Given the description of an element on the screen output the (x, y) to click on. 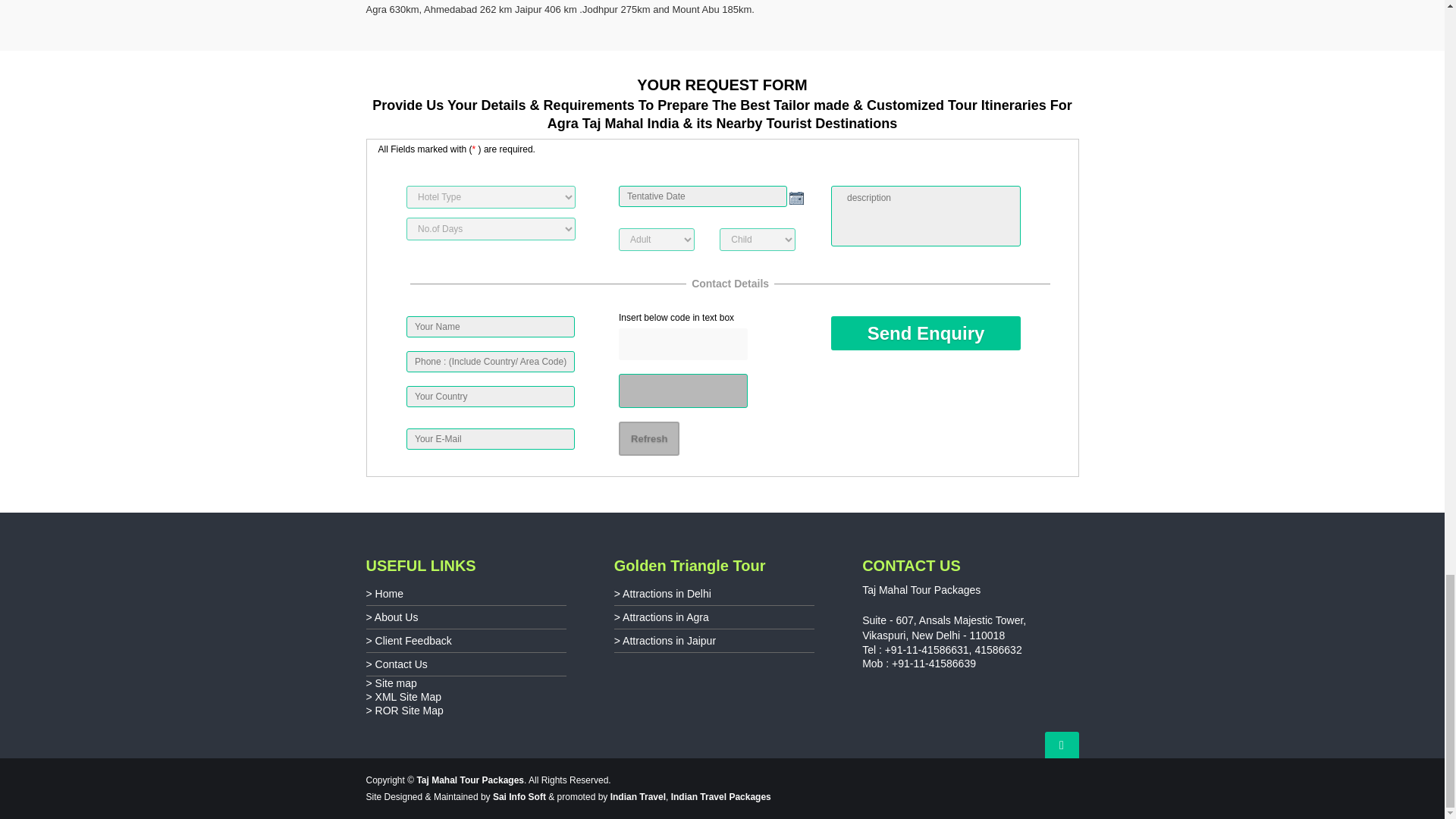
Refresh (648, 438)
Site map (395, 683)
Send Enquiry (925, 333)
Home (389, 593)
Contact Us (401, 664)
Attractions in Jaipur (669, 640)
About Us (396, 616)
Attractions in Agra (666, 616)
Client Feedback (413, 640)
ROR Site Map (409, 710)
